Given the description of an element on the screen output the (x, y) to click on. 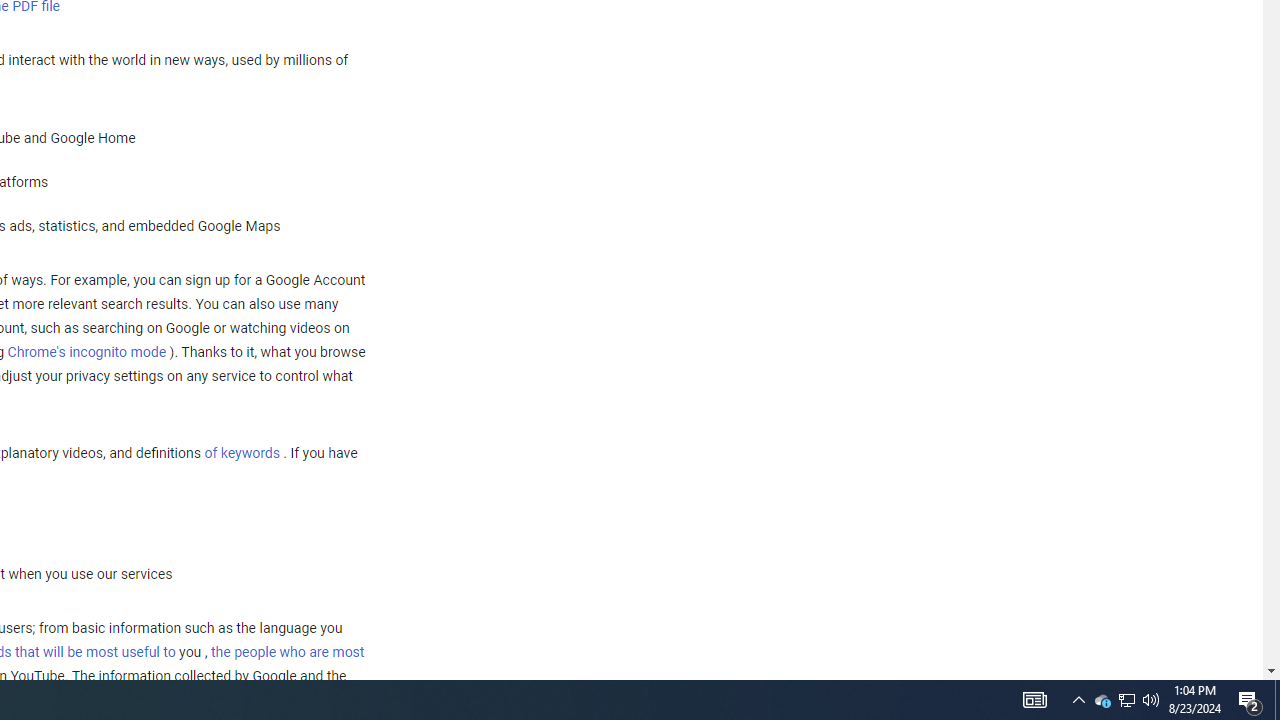
Chrome's incognito mode (86, 351)
of keywords (241, 453)
